Given the description of an element on the screen output the (x, y) to click on. 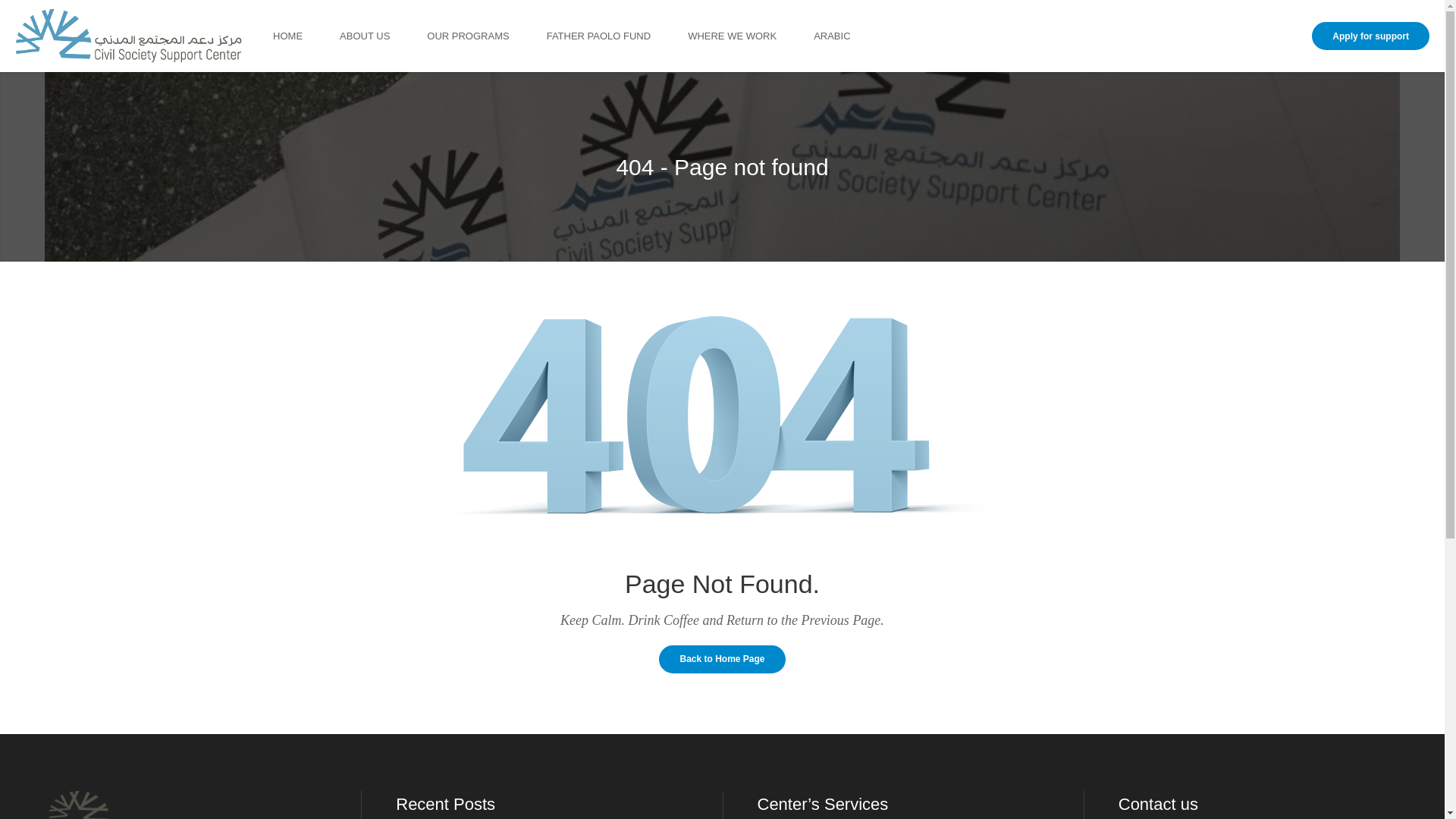
OUR PROGRAMS Element type: text (486, 36)
ABOUT US Element type: text (382, 36)
WHERE WE WORK Element type: text (750, 36)
FATHER PAOLO FUND Element type: text (616, 36)
ARABIC Element type: text (850, 36)
Apply for support Element type: text (1370, 35)
Back to Home Page Element type: text (721, 659)
HOME Element type: text (306, 36)
